Given the description of an element on the screen output the (x, y) to click on. 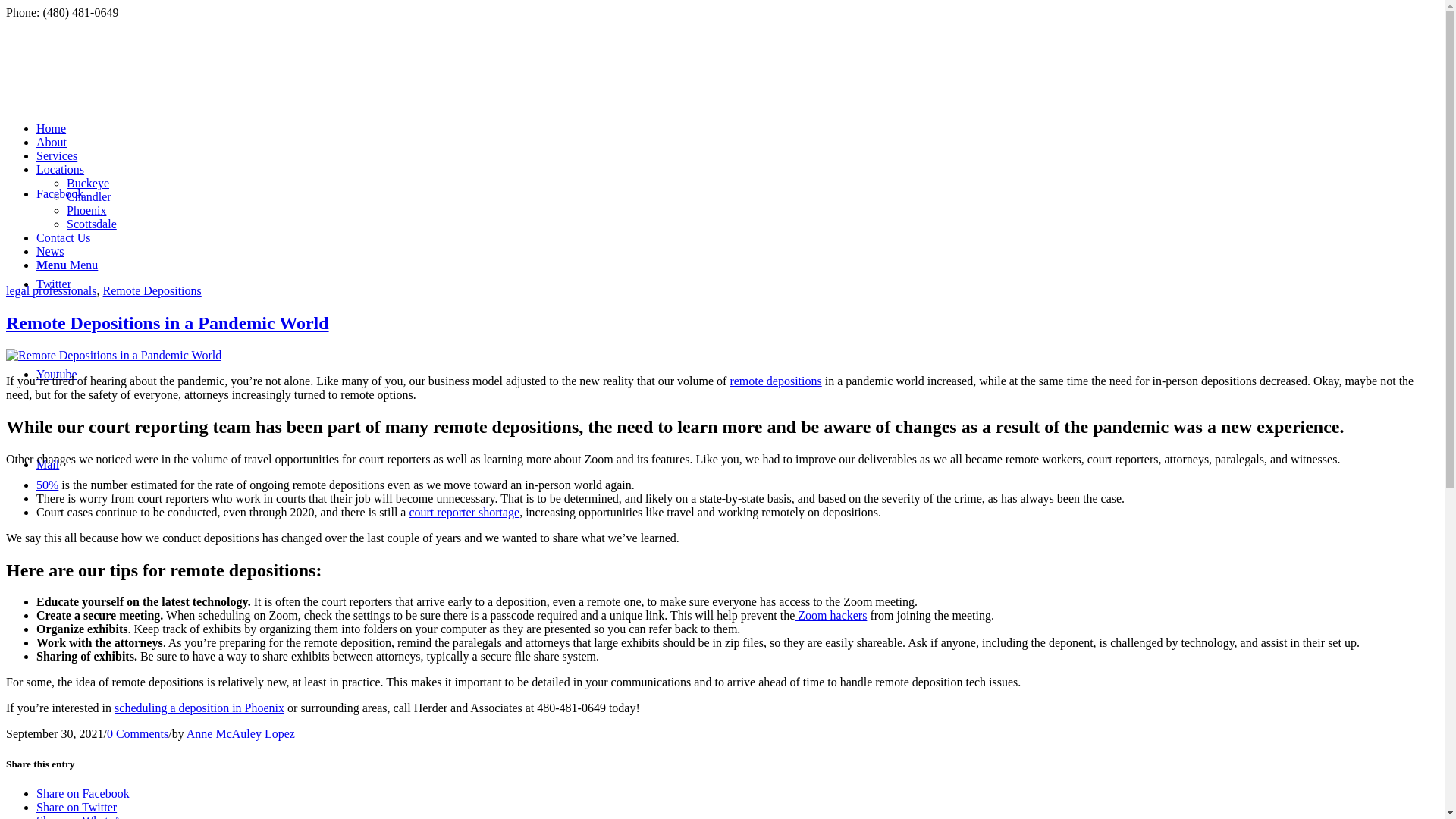
Posts by Anne McAuley Lopez (240, 733)
Services (56, 155)
Home (50, 128)
News (50, 250)
court reporter shortage (464, 512)
Twitter (53, 283)
Facebook (59, 193)
Court Reporters Phoenix (50, 128)
Share on Twitter (76, 807)
Anne McAuley Lopez (240, 733)
Locations (60, 169)
0 Comments (137, 733)
remote depositions (775, 380)
scheduling a deposition in Phoenix (199, 707)
Share on WhatsApp (84, 816)
